Given the description of an element on the screen output the (x, y) to click on. 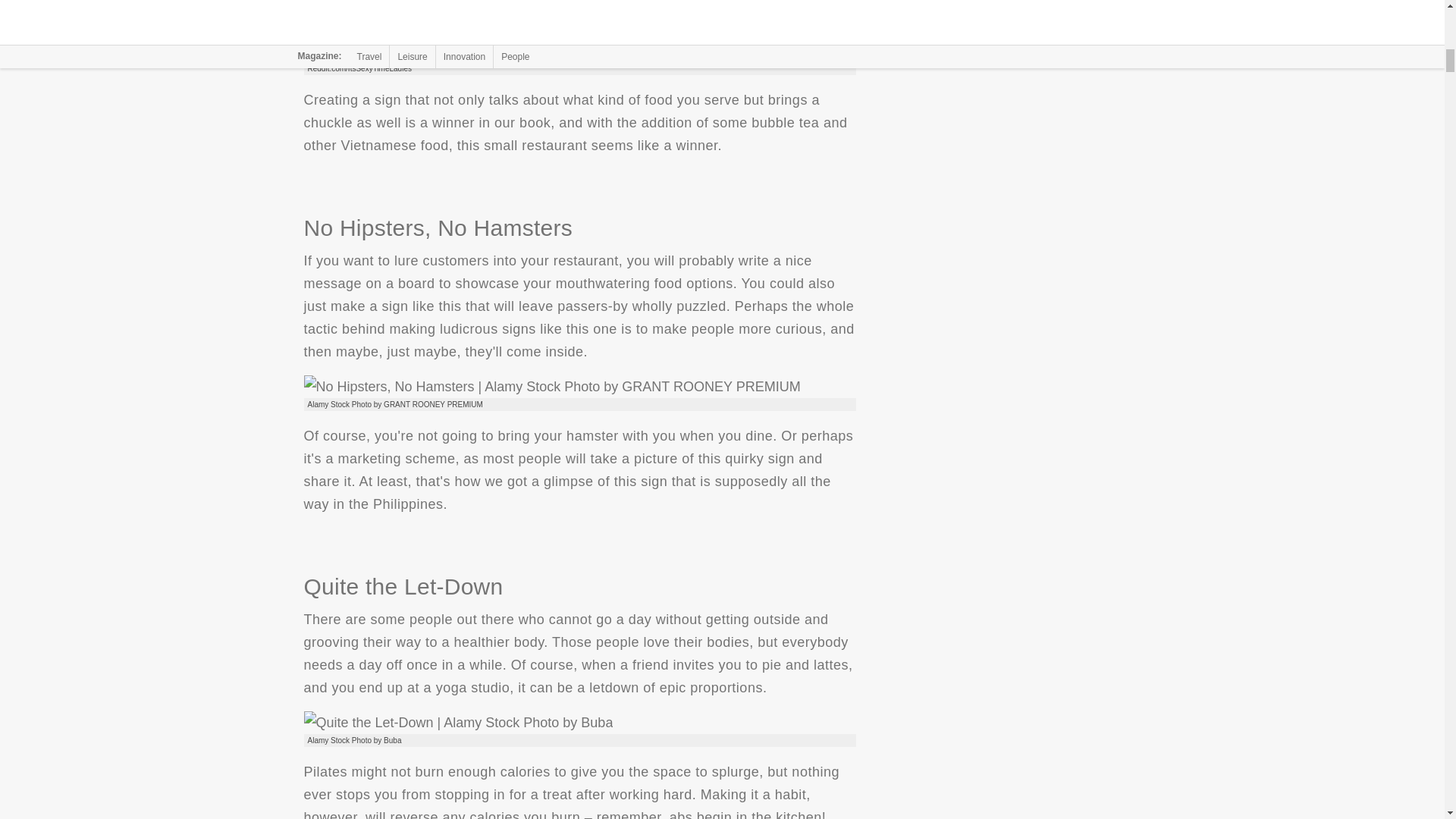
Quite the Let-Down (457, 722)
Deserves Another Look (479, 50)
No Hipsters, No Hamsters (550, 386)
